Given the description of an element on the screen output the (x, y) to click on. 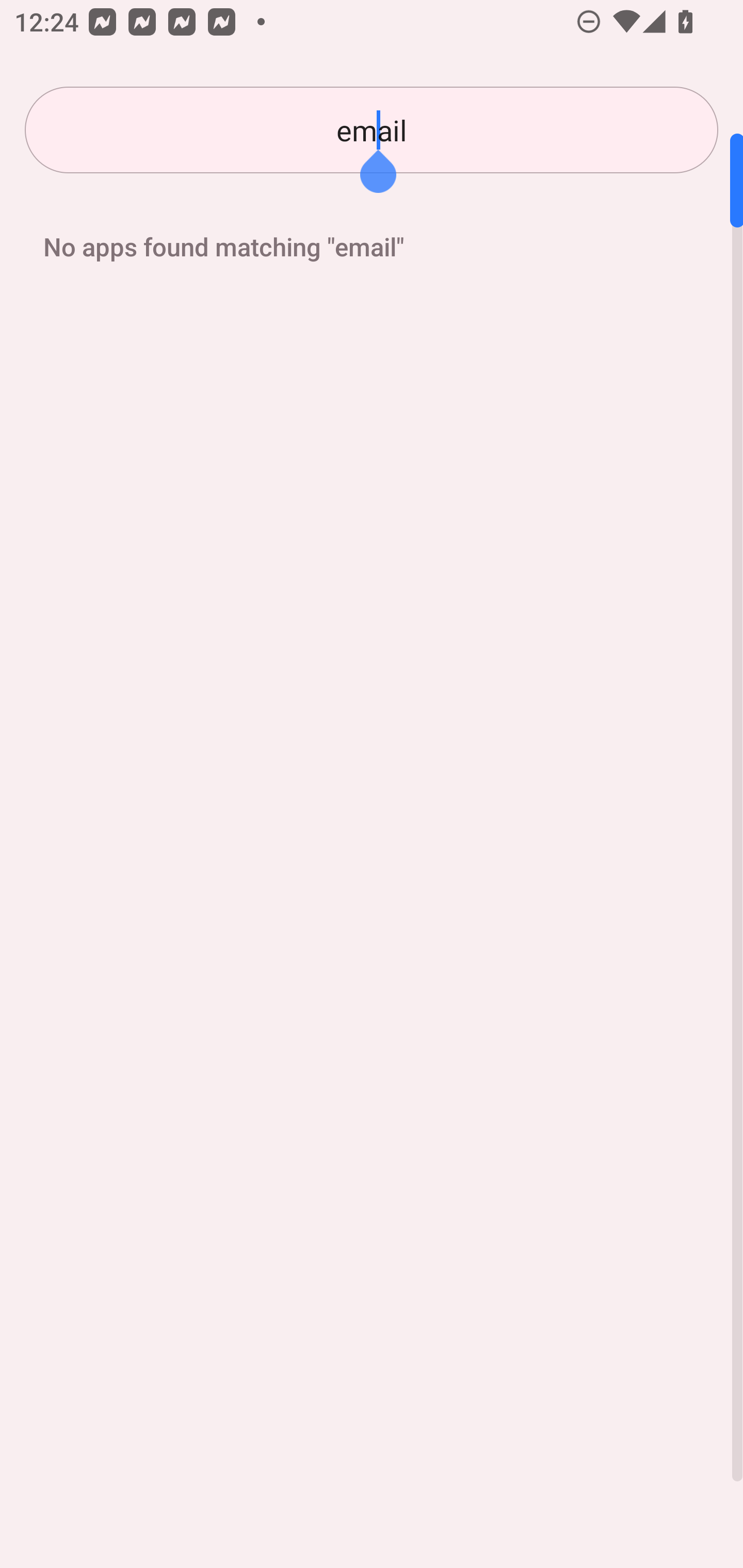
email (371, 130)
